Given the description of an element on the screen output the (x, y) to click on. 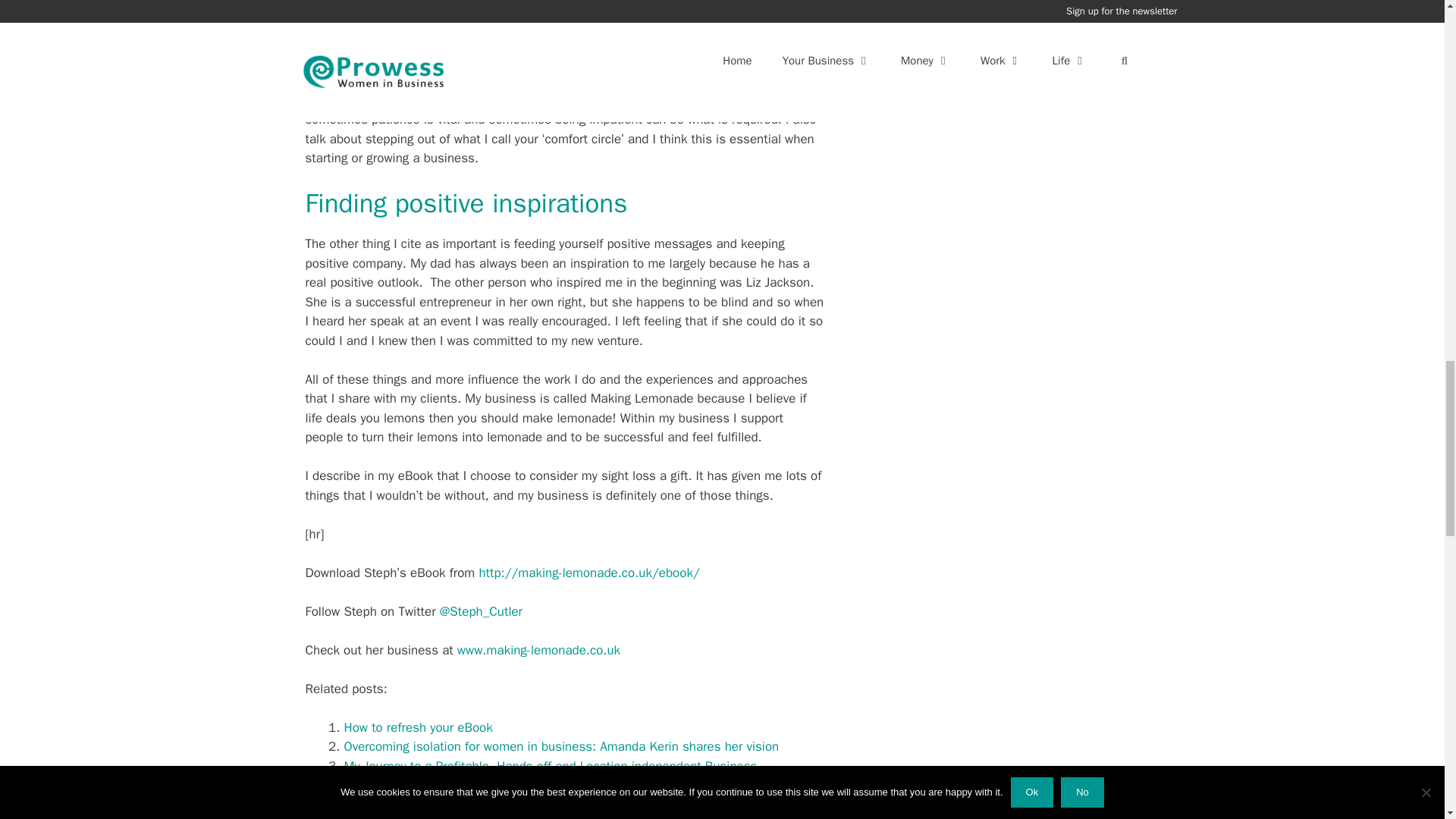
Twitter (480, 611)
How to refresh your eBook (418, 727)
How to Calculate Taxes for Self-Employment Income (490, 785)
Ebook (588, 572)
